Given the description of an element on the screen output the (x, y) to click on. 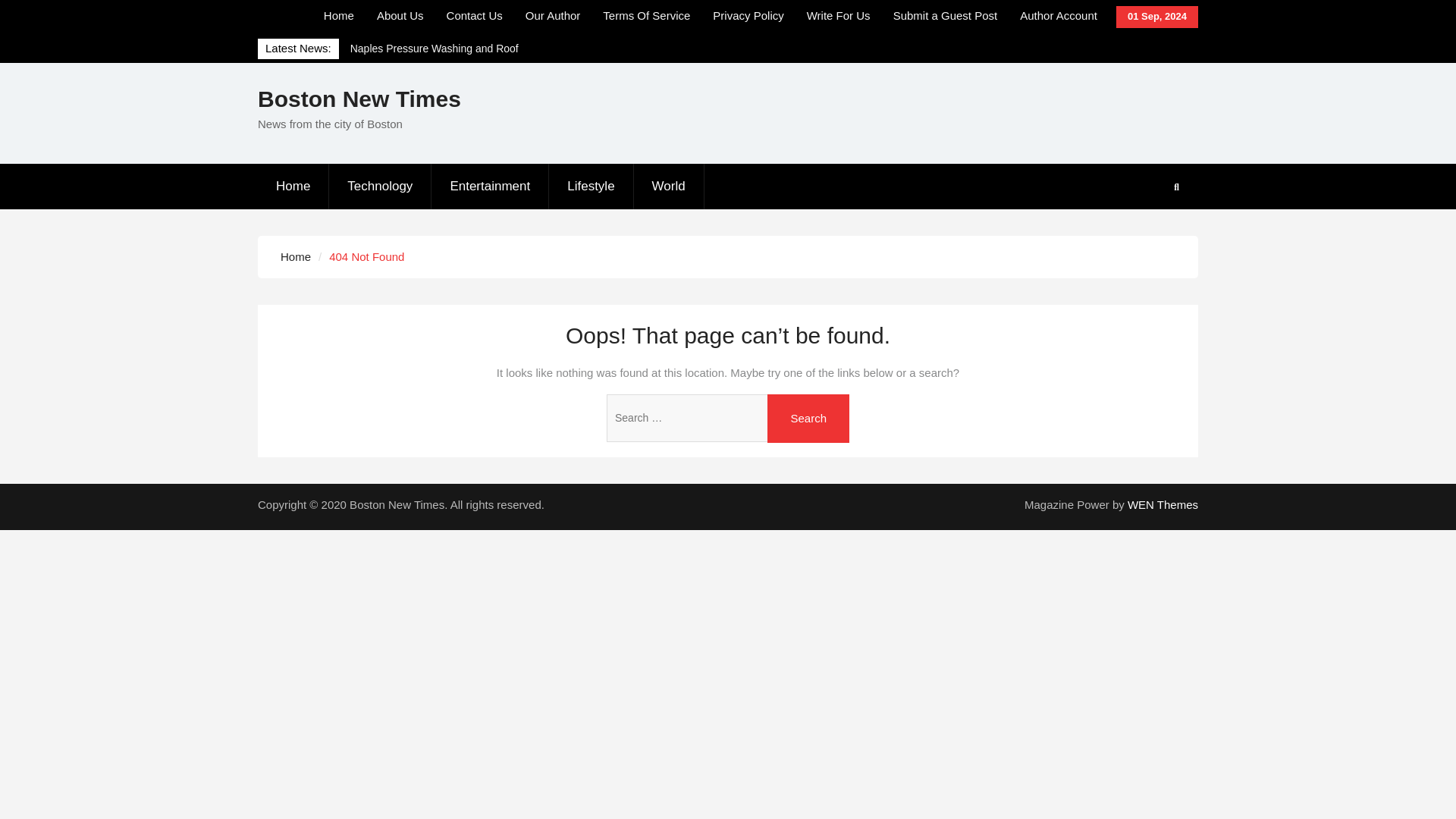
Home (339, 15)
Search (807, 418)
Technology (379, 186)
World (668, 186)
Lifestyle (590, 186)
Terms Of Service (646, 15)
Boston New Times (359, 98)
About Us (400, 15)
Search (807, 418)
